Given the description of an element on the screen output the (x, y) to click on. 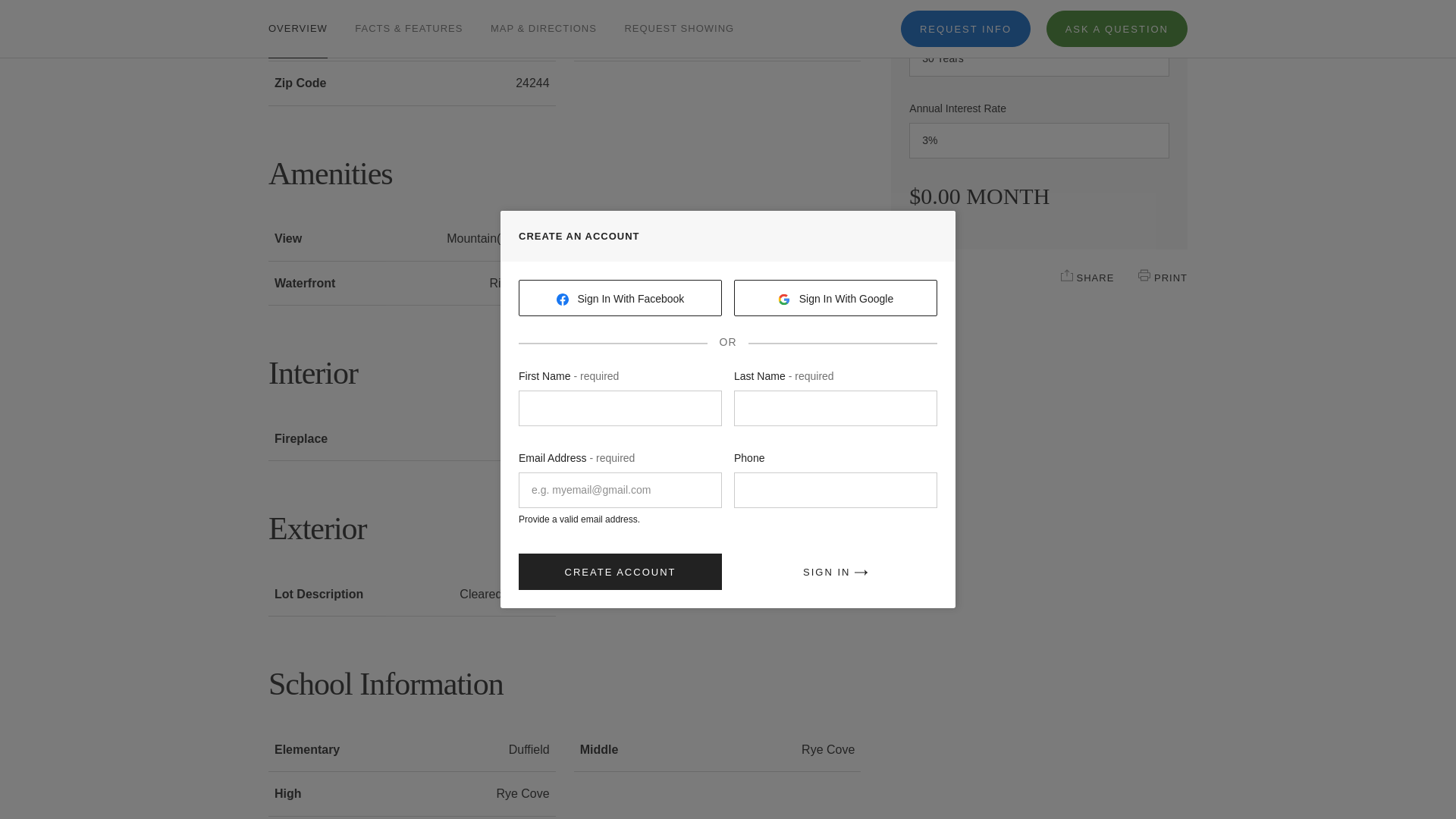
PRINT (1144, 275)
SHARE (1067, 275)
